Given the description of an element on the screen output the (x, y) to click on. 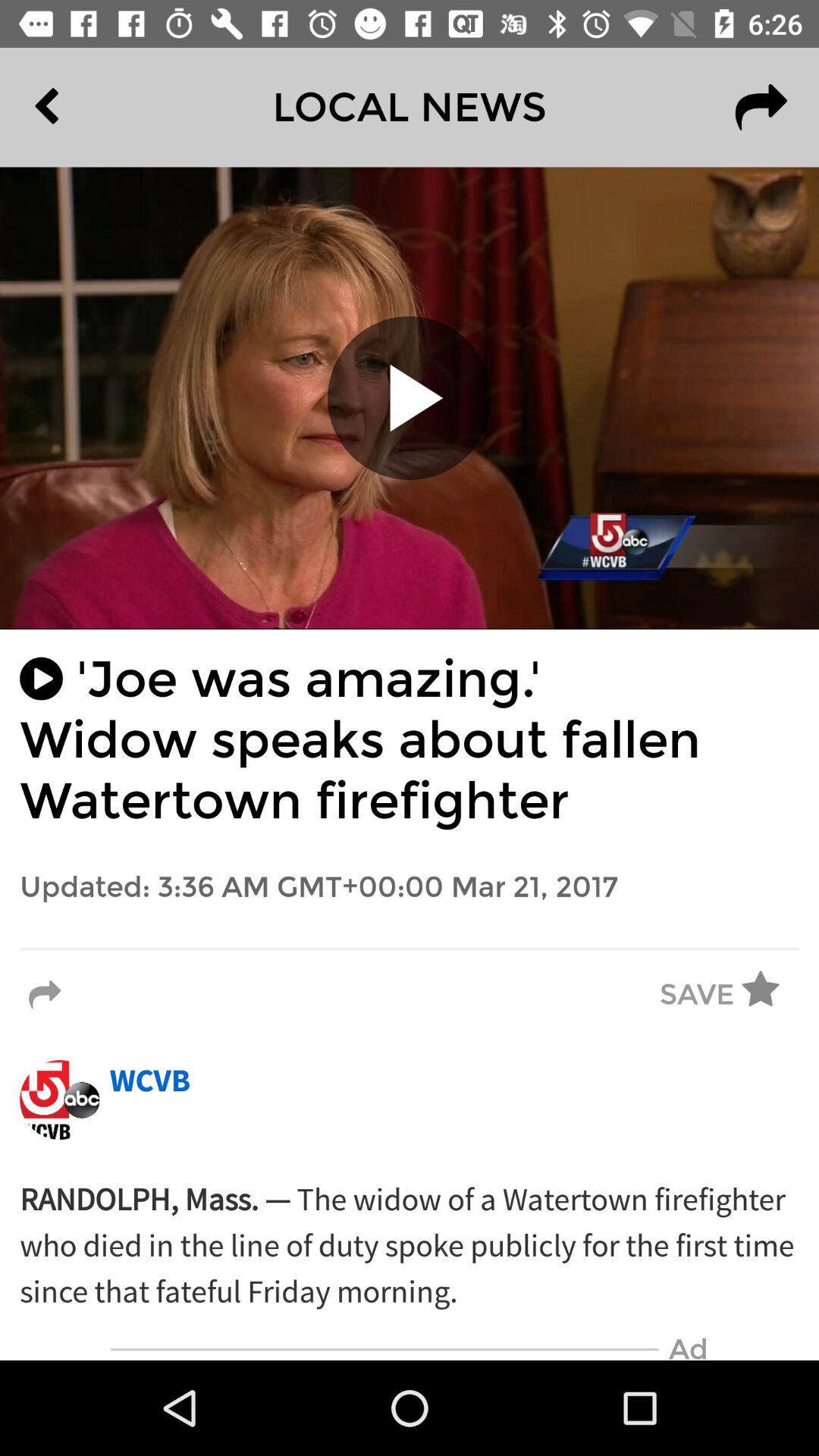
select item next to local news item (81, 107)
